Given the description of an element on the screen output the (x, y) to click on. 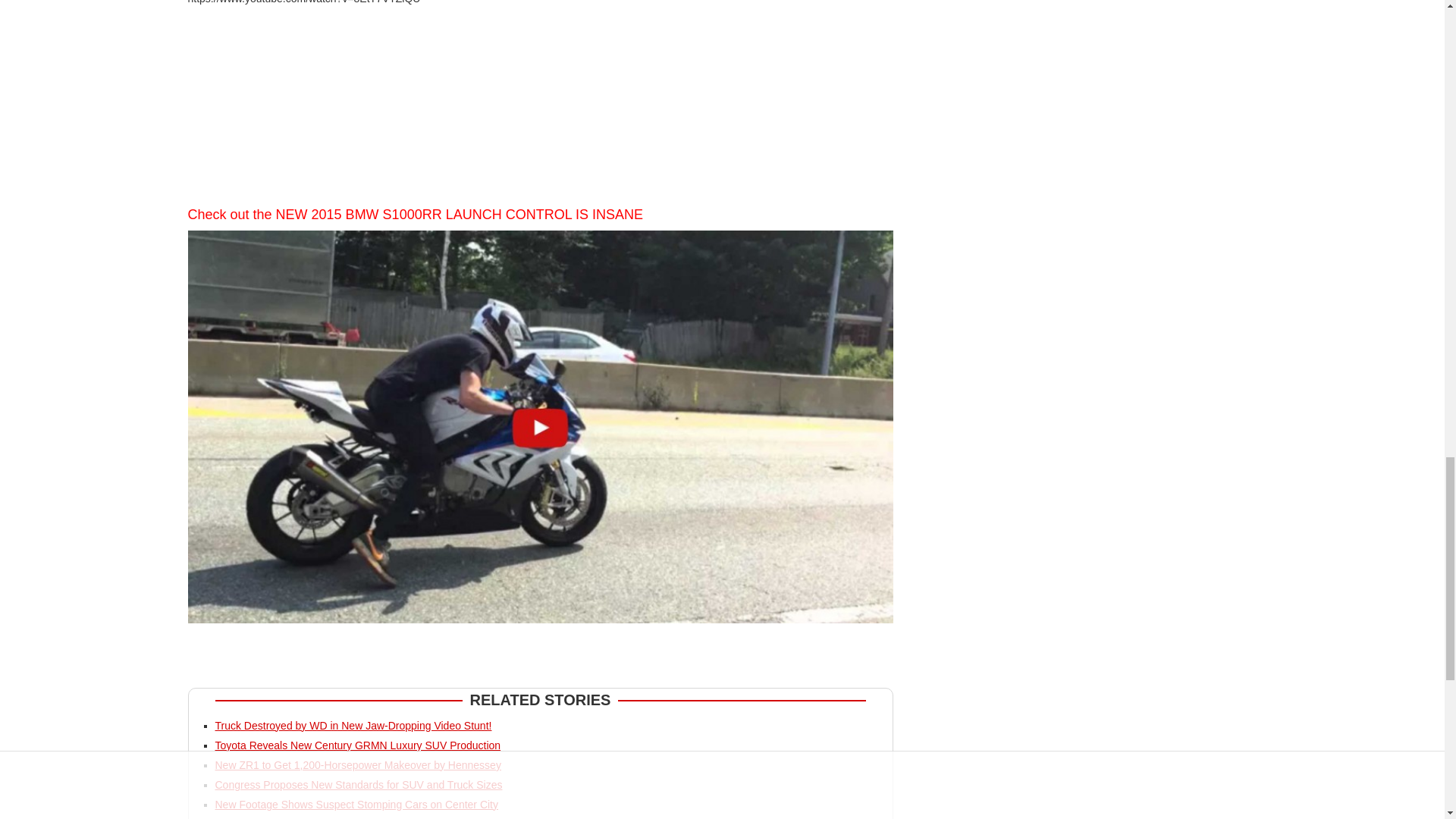
Truck Destroyed by WD in New Jaw-Dropping Video Stunt! (353, 725)
2015 BMW S1000RR LAUNCH CONTROL IS INSANE (477, 214)
